Given the description of an element on the screen output the (x, y) to click on. 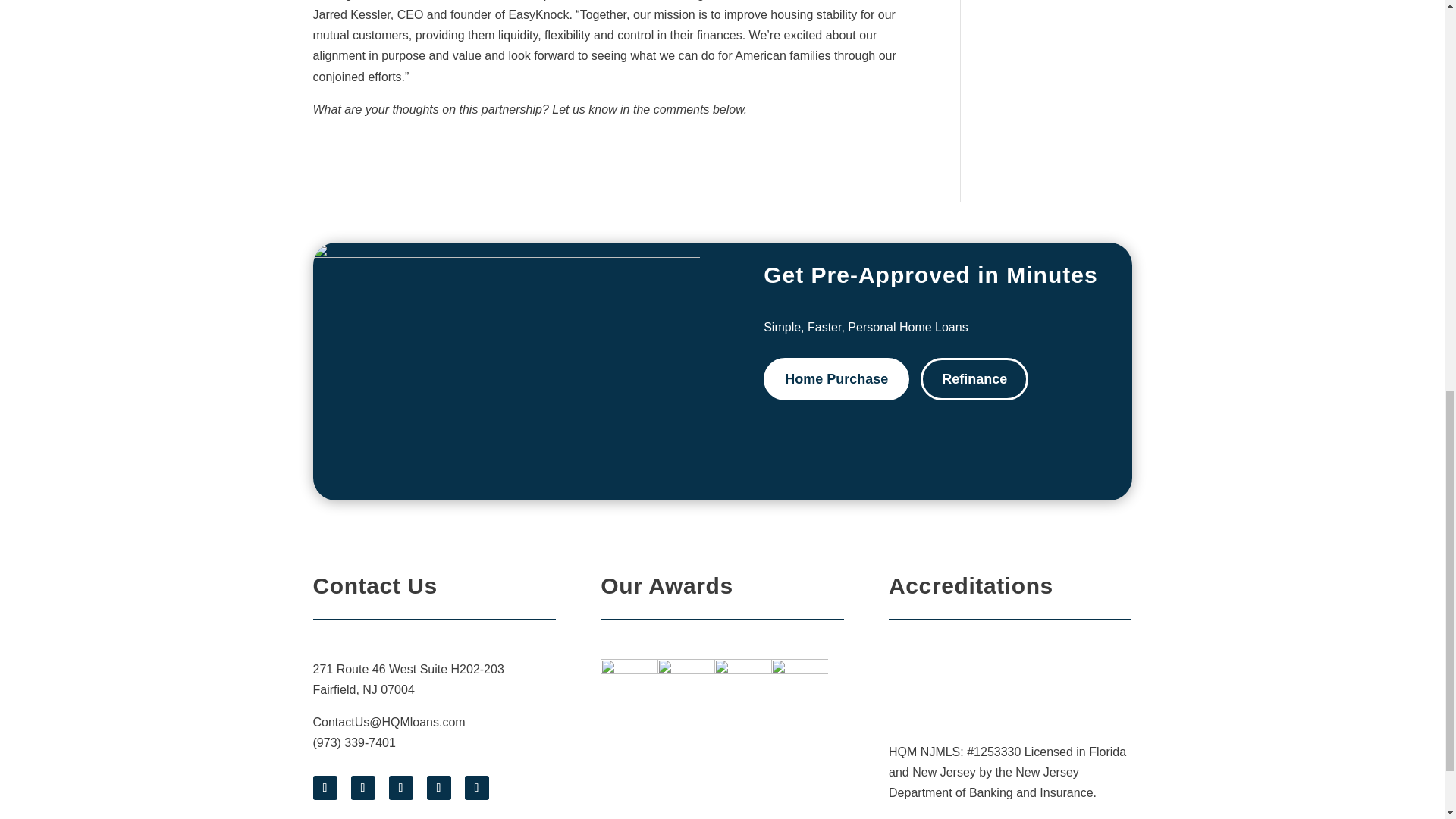
Home Purchase (835, 379)
Award-UWM2 (742, 687)
Follow on Twitter (362, 787)
Expertise (799, 687)
Award-2018 (628, 687)
Award-UWM (686, 687)
Follow on Instagram (400, 787)
House (505, 371)
Refinance (973, 379)
Follow on LinkedIn (475, 787)
Follow on Facebook (324, 787)
Follow on Youtube (437, 787)
